Given the description of an element on the screen output the (x, y) to click on. 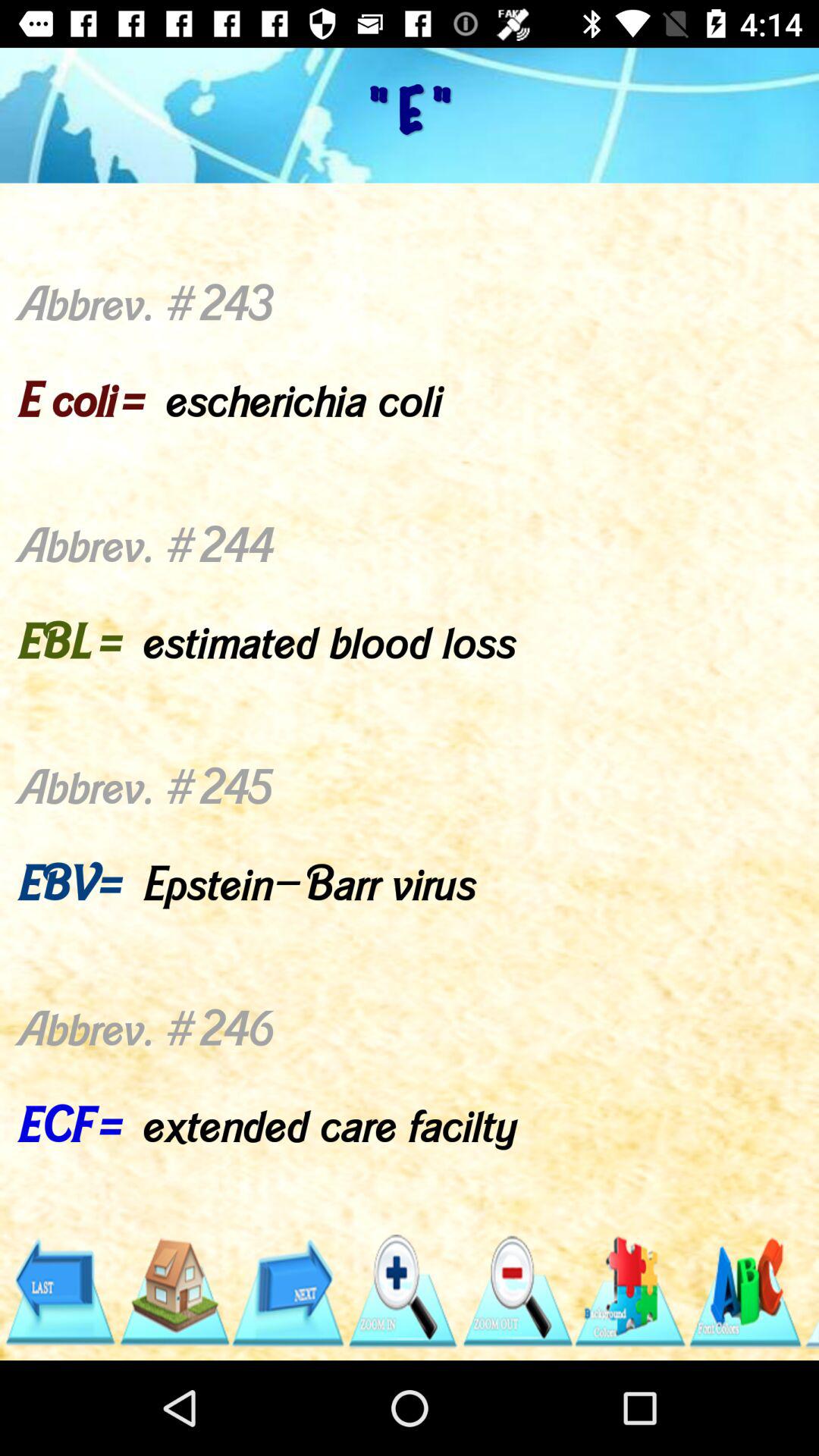
open the item below abbrev 	243	 	e (402, 1291)
